Given the description of an element on the screen output the (x, y) to click on. 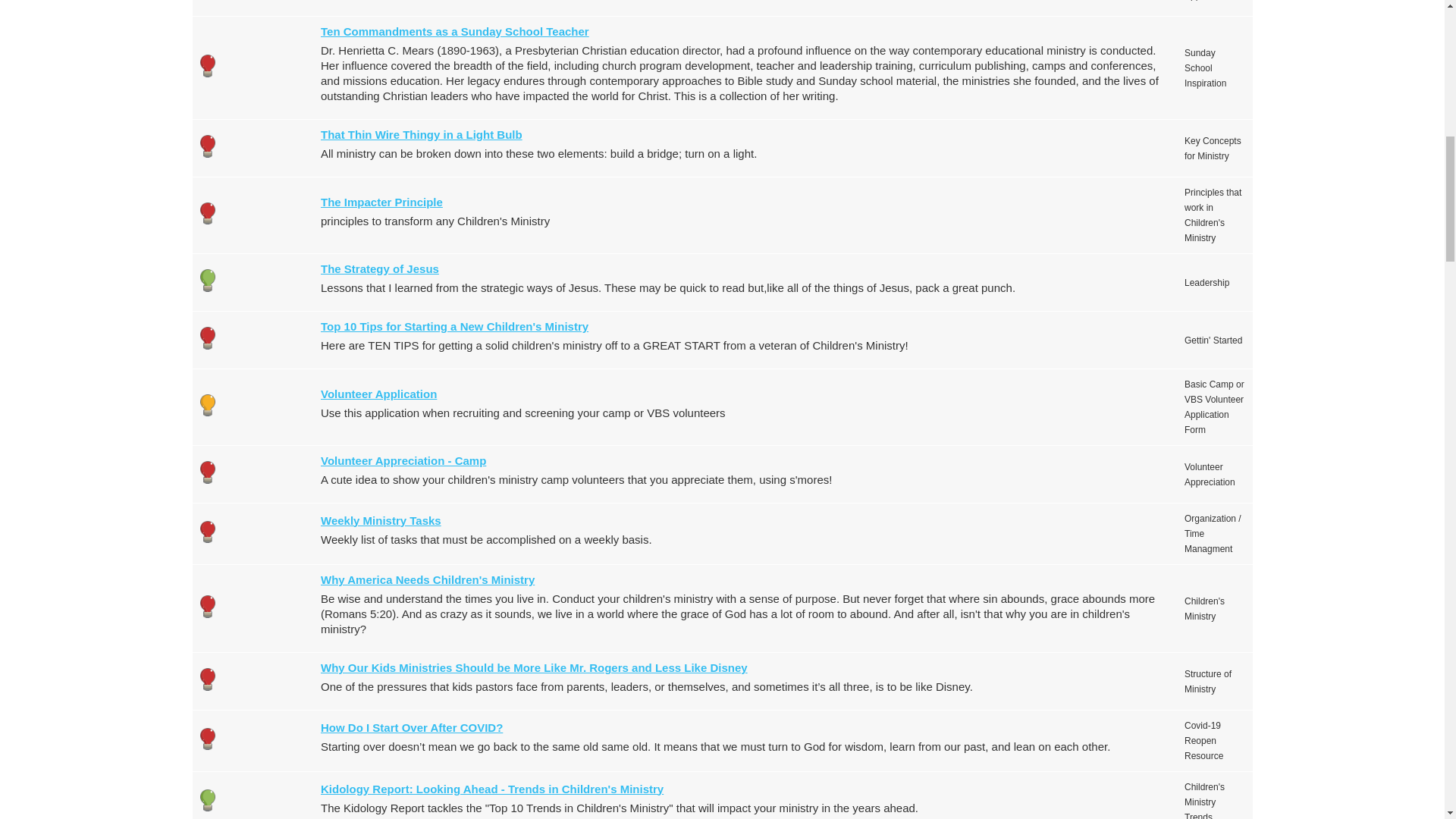
Free (207, 800)
All Access (207, 472)
All Access (207, 213)
All Access (207, 606)
All Access (207, 739)
All Access (207, 65)
Starter (207, 404)
All Access (207, 337)
All Access (207, 146)
Free (207, 280)
All Access (207, 679)
All Access (207, 531)
